Given the description of an element on the screen output the (x, y) to click on. 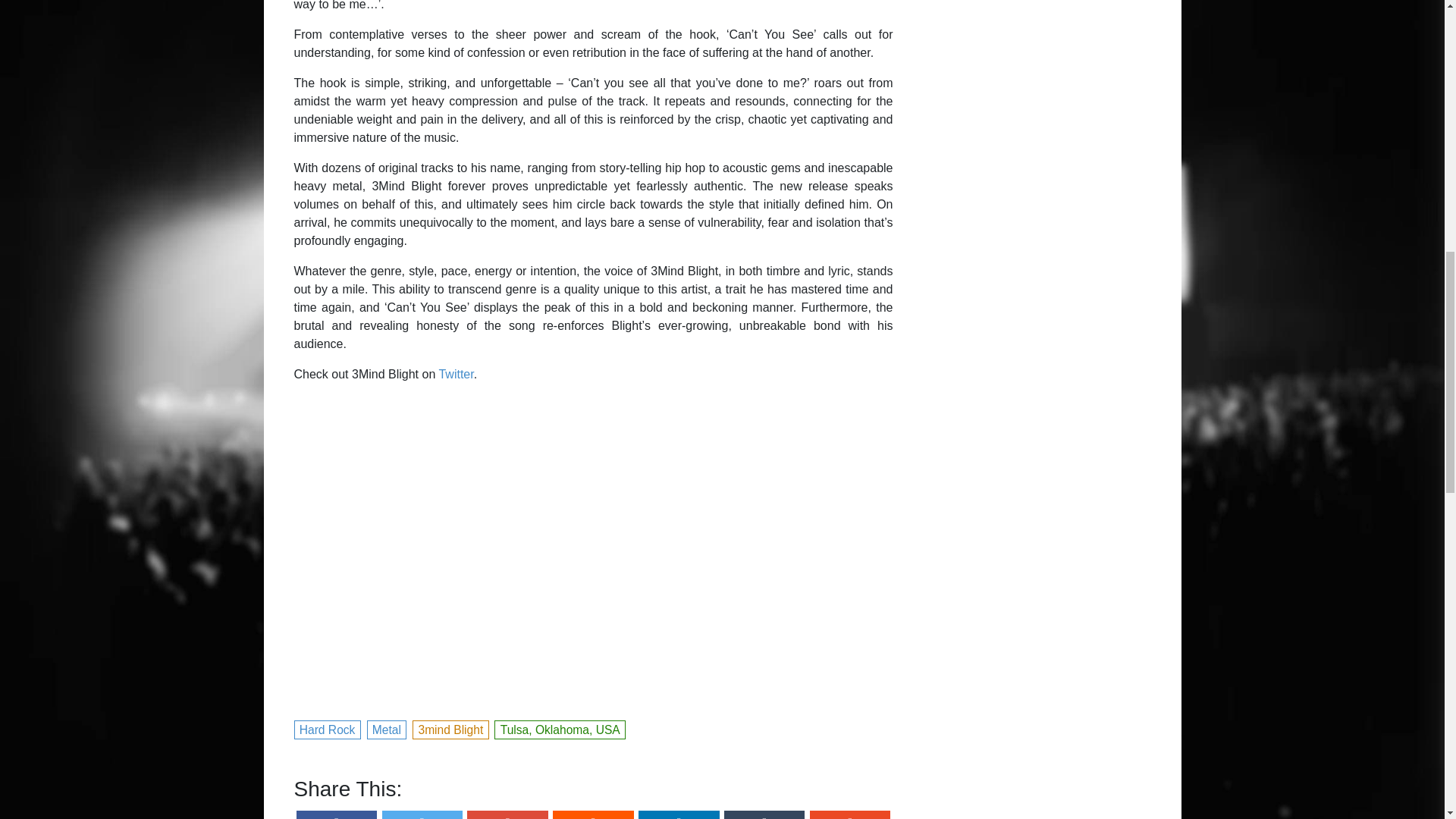
Metal (386, 728)
Tulsa, Oklahoma, USA (560, 728)
3mind Blight (450, 728)
Twitter (455, 373)
Hard Rock (328, 728)
